Given the description of an element on the screen output the (x, y) to click on. 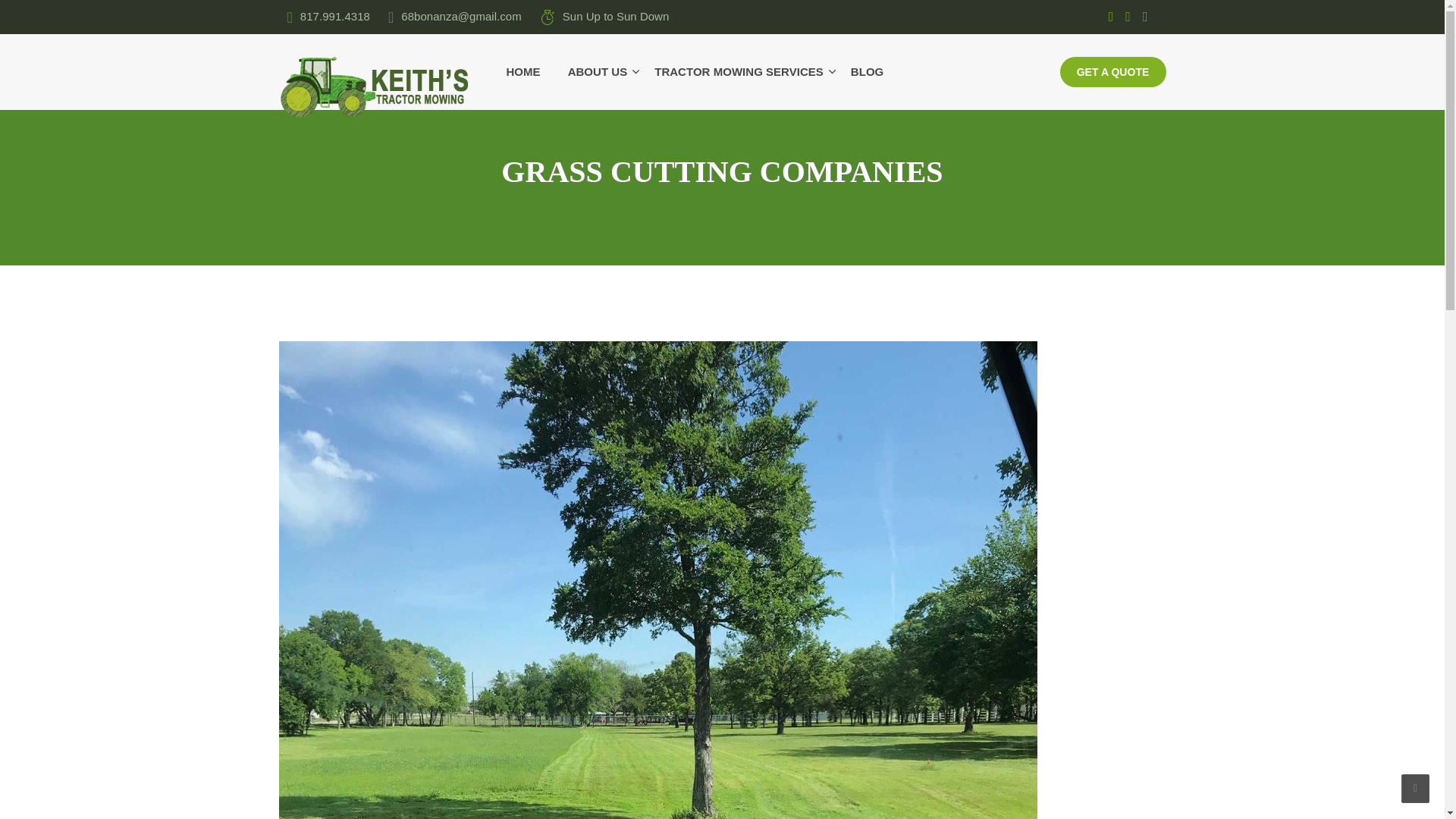
ABOUT US (600, 71)
BLOG (862, 71)
TRACTOR MOWING SERVICES (741, 71)
GET A QUOTE (1112, 71)
Sun Up to Sun Down (604, 16)
817.991.4318 (328, 16)
HOME (530, 71)
